Given the description of an element on the screen output the (x, y) to click on. 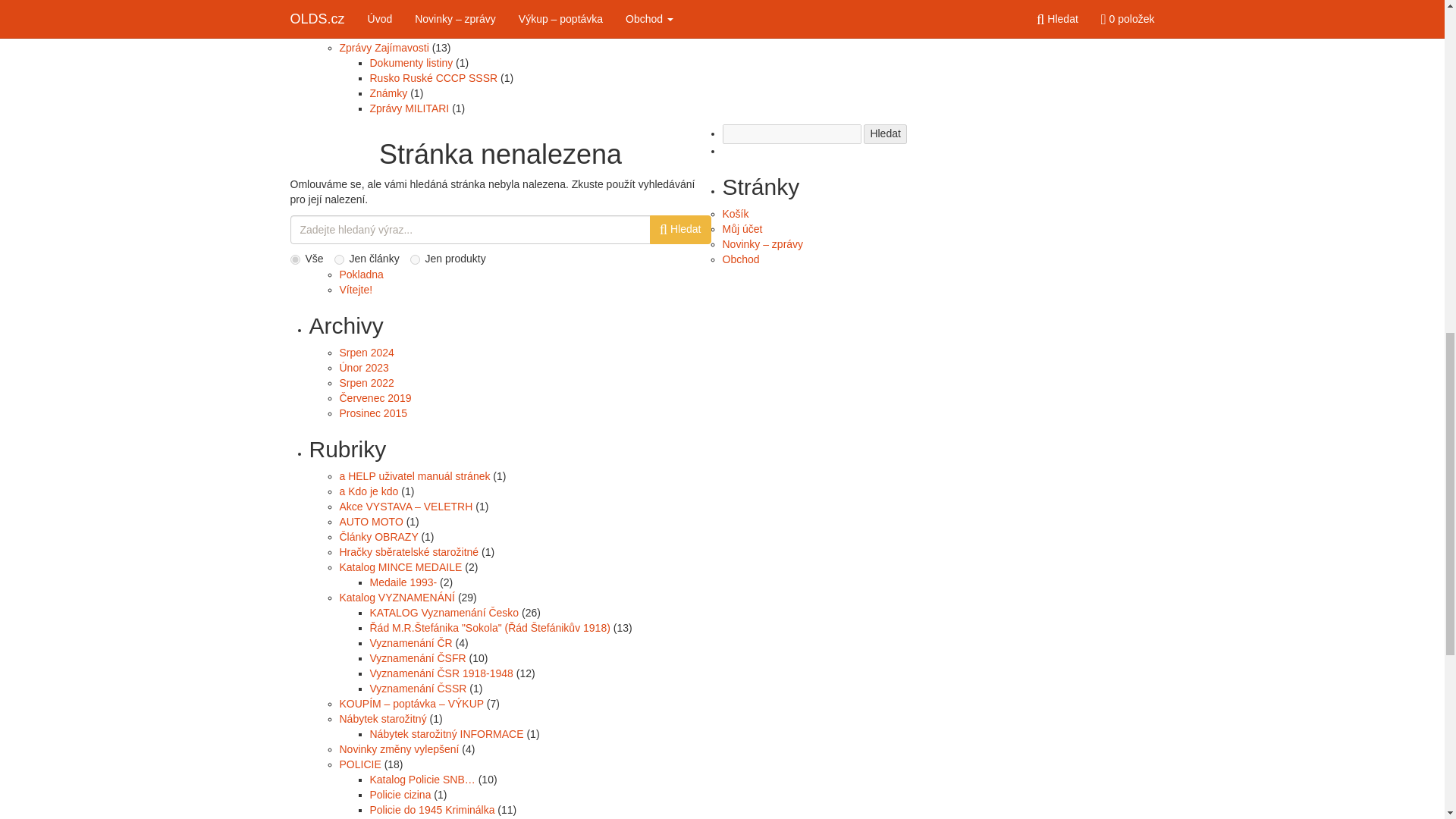
Hledat (884, 134)
product (415, 259)
post (338, 259)
any (294, 259)
